Given the description of an element on the screen output the (x, y) to click on. 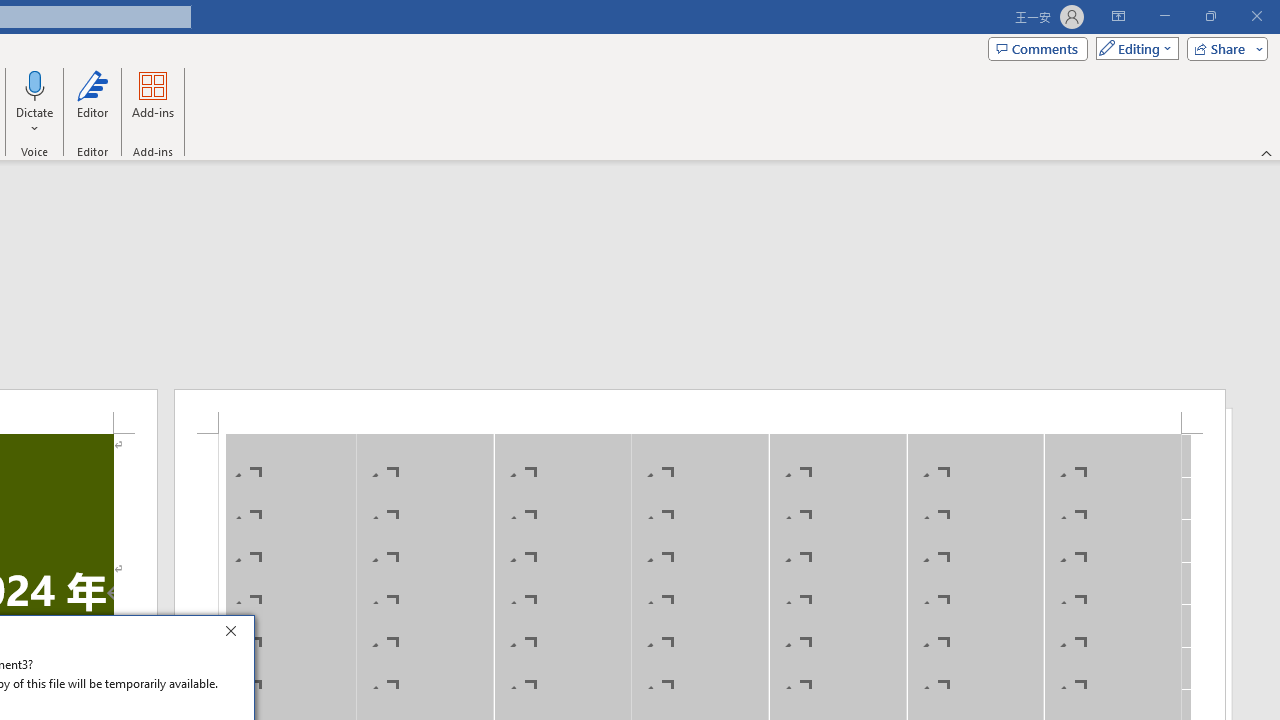
Mode (1133, 47)
Header -Section 1- (700, 411)
Editor (92, 102)
